Given the description of an element on the screen output the (x, y) to click on. 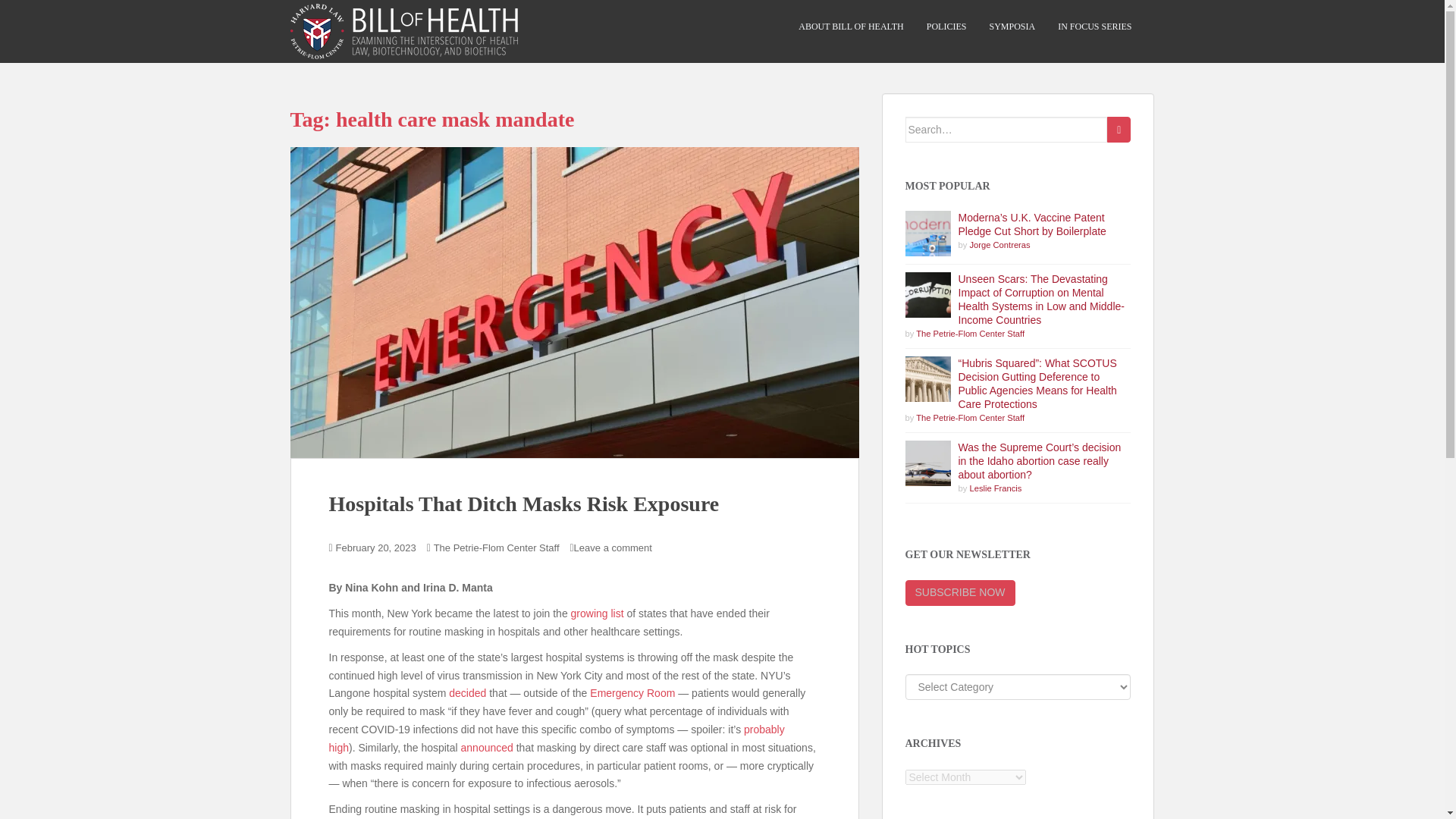
IN FOCUS SERIES (1094, 26)
The Petrie-Flom Center Staff (970, 333)
SUBSCRIBE NOW (959, 592)
The Petrie-Flom Center Staff (970, 417)
February 20, 2023 (376, 547)
SYMPOSIA (1011, 26)
growing list (597, 613)
Search (1118, 129)
Jorge Contreras (999, 244)
announced (487, 747)
Emergency Room (632, 693)
Search for: (1006, 129)
decided (467, 693)
